Given the description of an element on the screen output the (x, y) to click on. 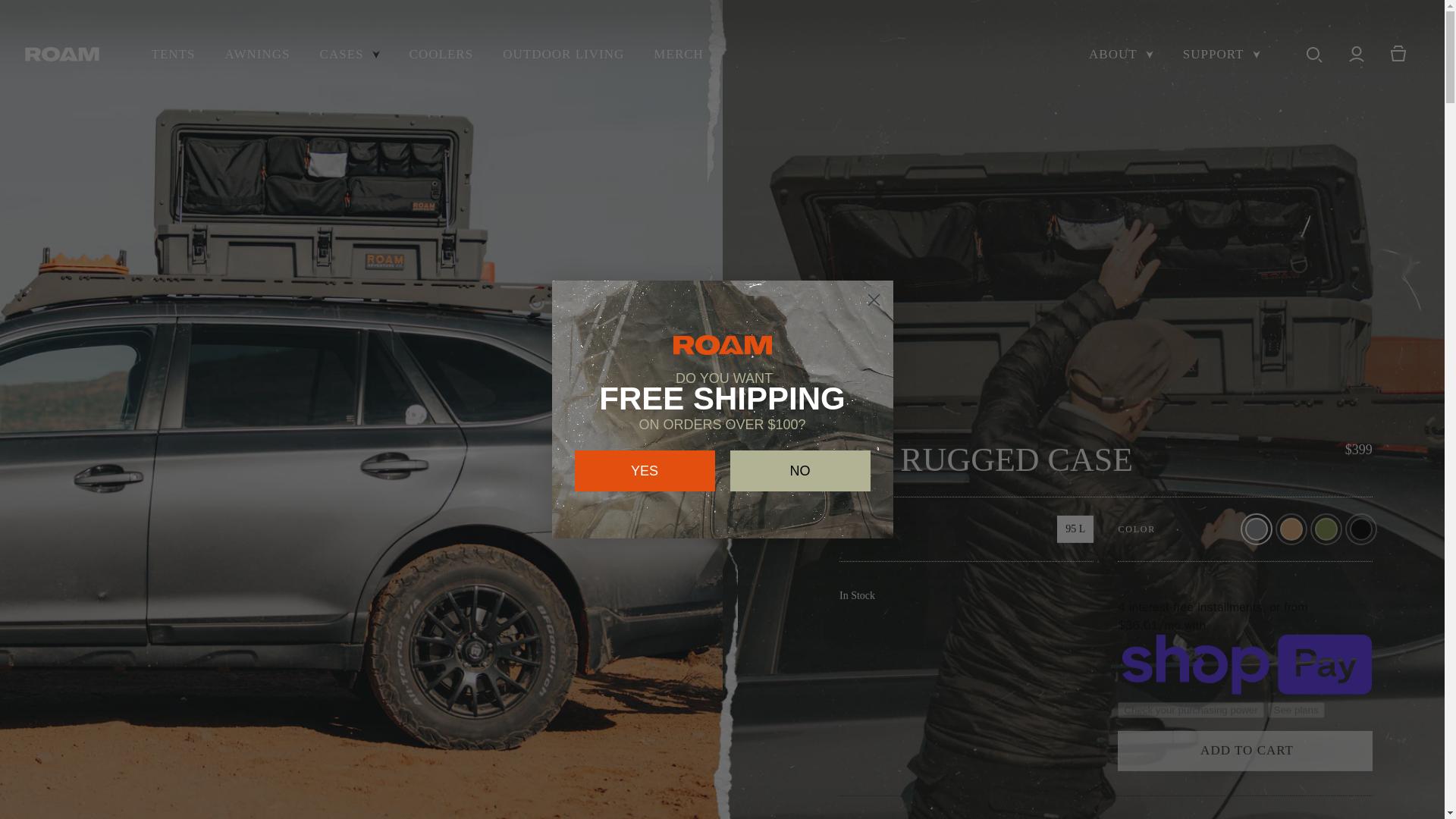
TENTS (172, 54)
SUPPORT (1221, 54)
AWNINGS (256, 54)
ABOUT (1121, 54)
Close dialog 1 (873, 299)
COOLERS (440, 54)
CASES (349, 54)
OUTDOOR LIVING (563, 54)
MERCH (679, 54)
